Given the description of an element on the screen output the (x, y) to click on. 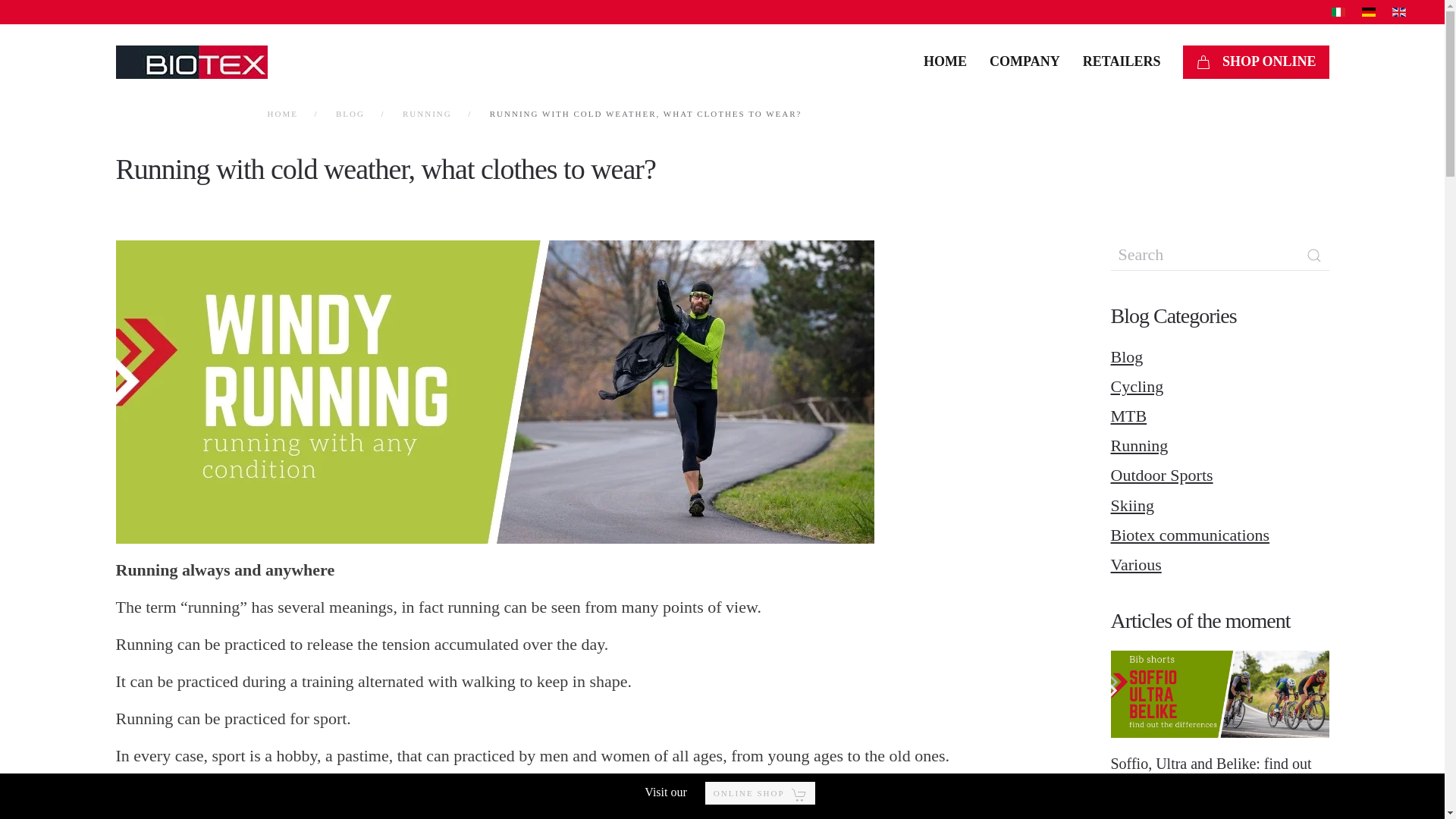
RETAILERS (1121, 61)
HOME (281, 112)
BLOG (350, 112)
COMPANY (1024, 61)
SHOP ONLINE (1254, 61)
